Given the description of an element on the screen output the (x, y) to click on. 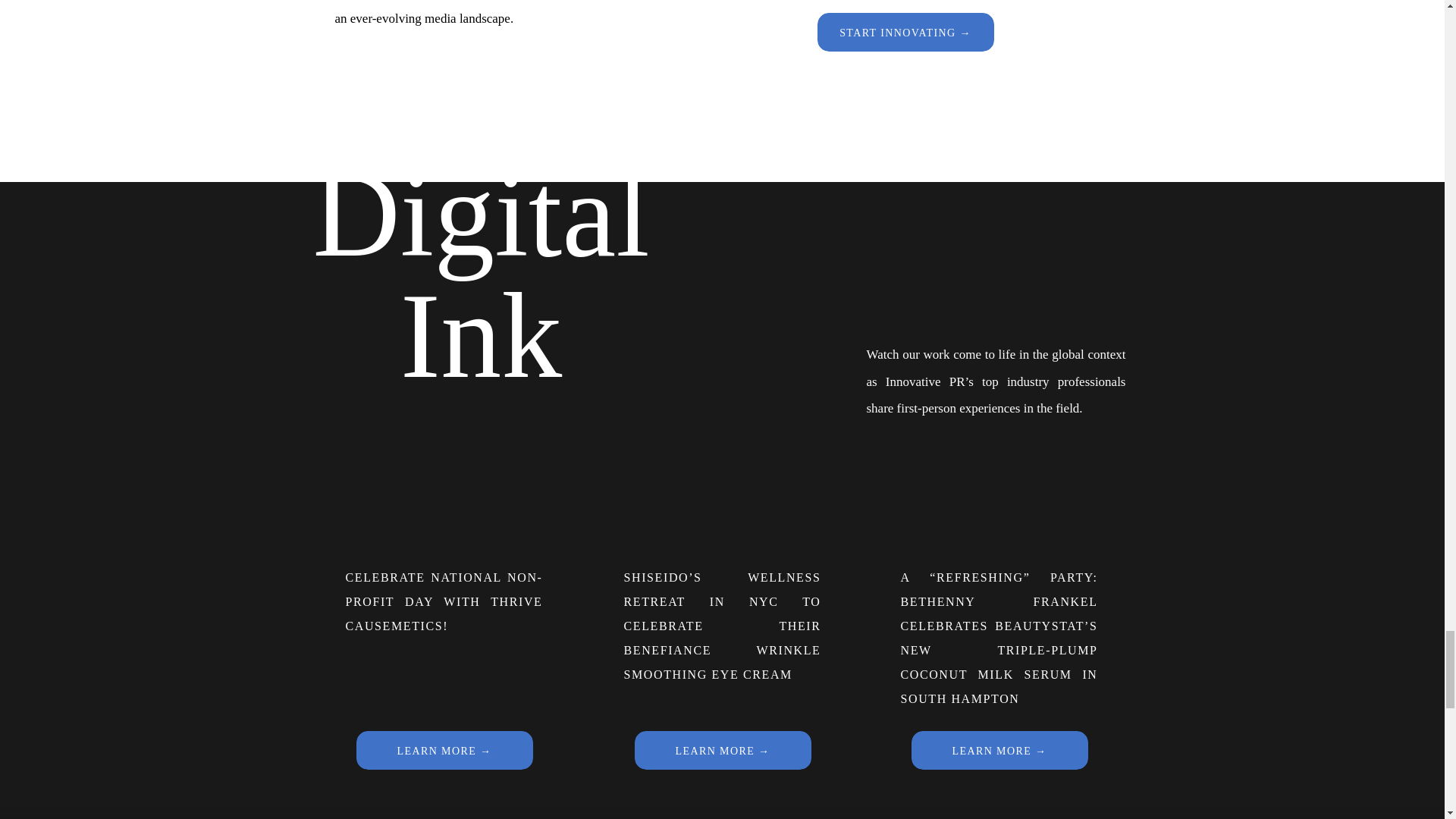
Celebrate National Non-Profit Day with Thrive Causemetics! (444, 750)
Celebrate National Non-Profit Day with Thrive Causemetics! (444, 750)
CELEBRATE NATIONAL NON-PROFIT DAY WITH THRIVE CAUSEMETICS! (444, 601)
